Given the description of an element on the screen output the (x, y) to click on. 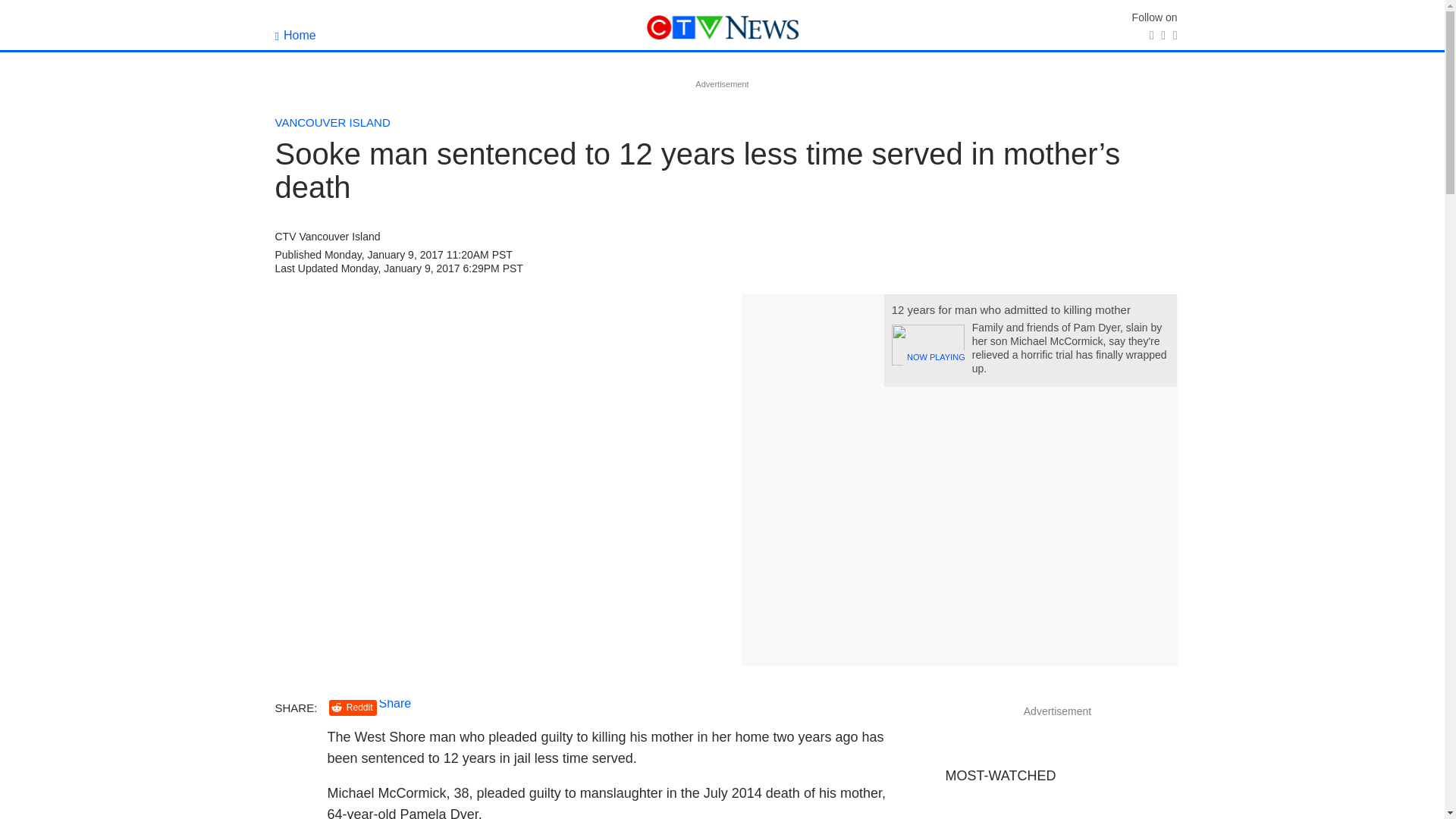
Share (395, 703)
Home (295, 34)
Reddit (353, 707)
12 years for man who admitted to killing mother (1011, 309)
VANCOUVER ISLAND (332, 122)
  NOW PLAYING (927, 344)
